Given the description of an element on the screen output the (x, y) to click on. 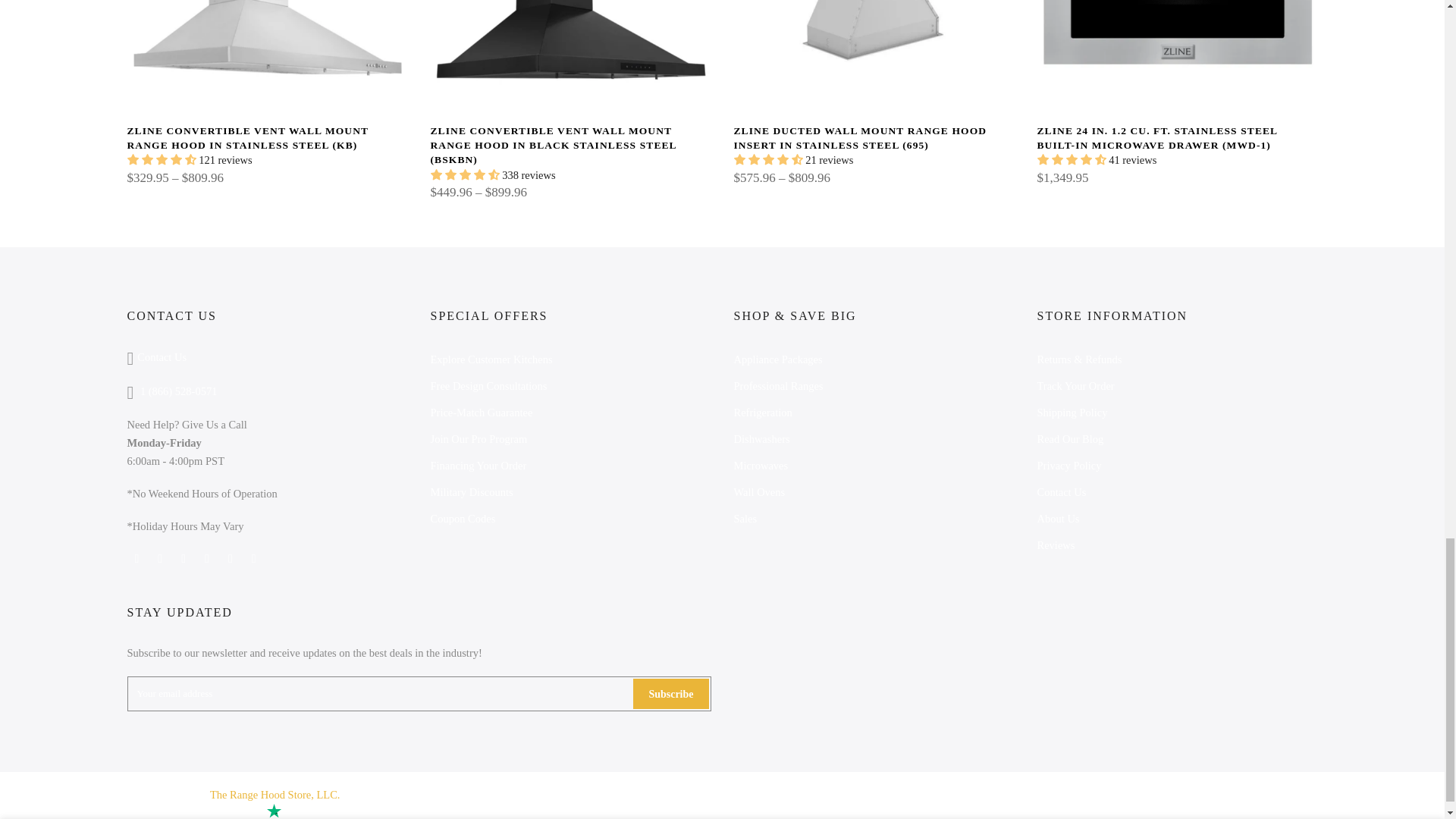
Customer reviews powered by Trustpilot (241, 811)
